Given the description of an element on the screen output the (x, y) to click on. 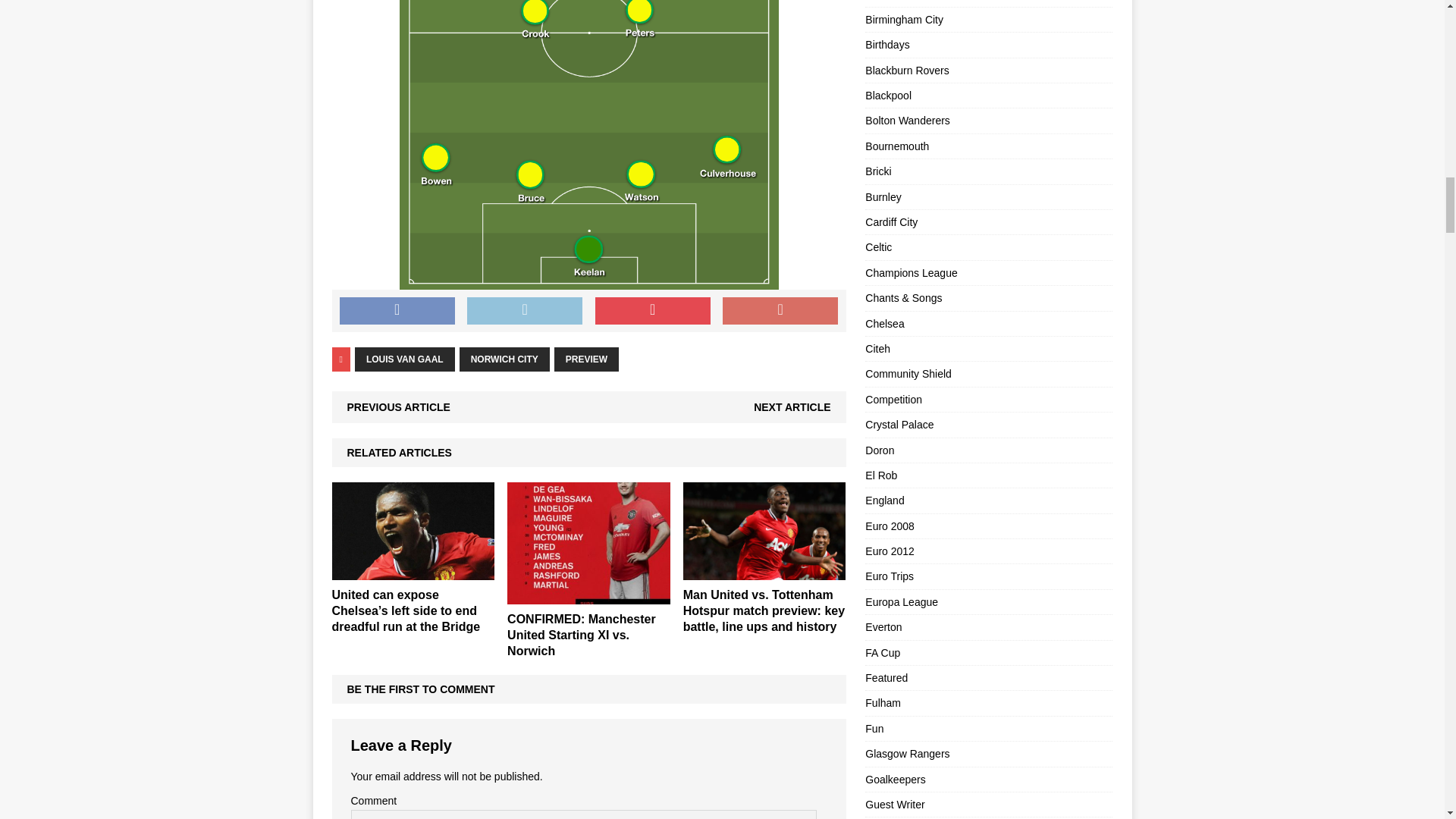
David De Gea missing again as United travel to Aston Villa (413, 784)
Share on Facebook (396, 523)
Tweet This Post (524, 523)
David De Gea missing again as United travel to Aston Villa (413, 809)
Pin This Post (652, 523)
